Given the description of an element on the screen output the (x, y) to click on. 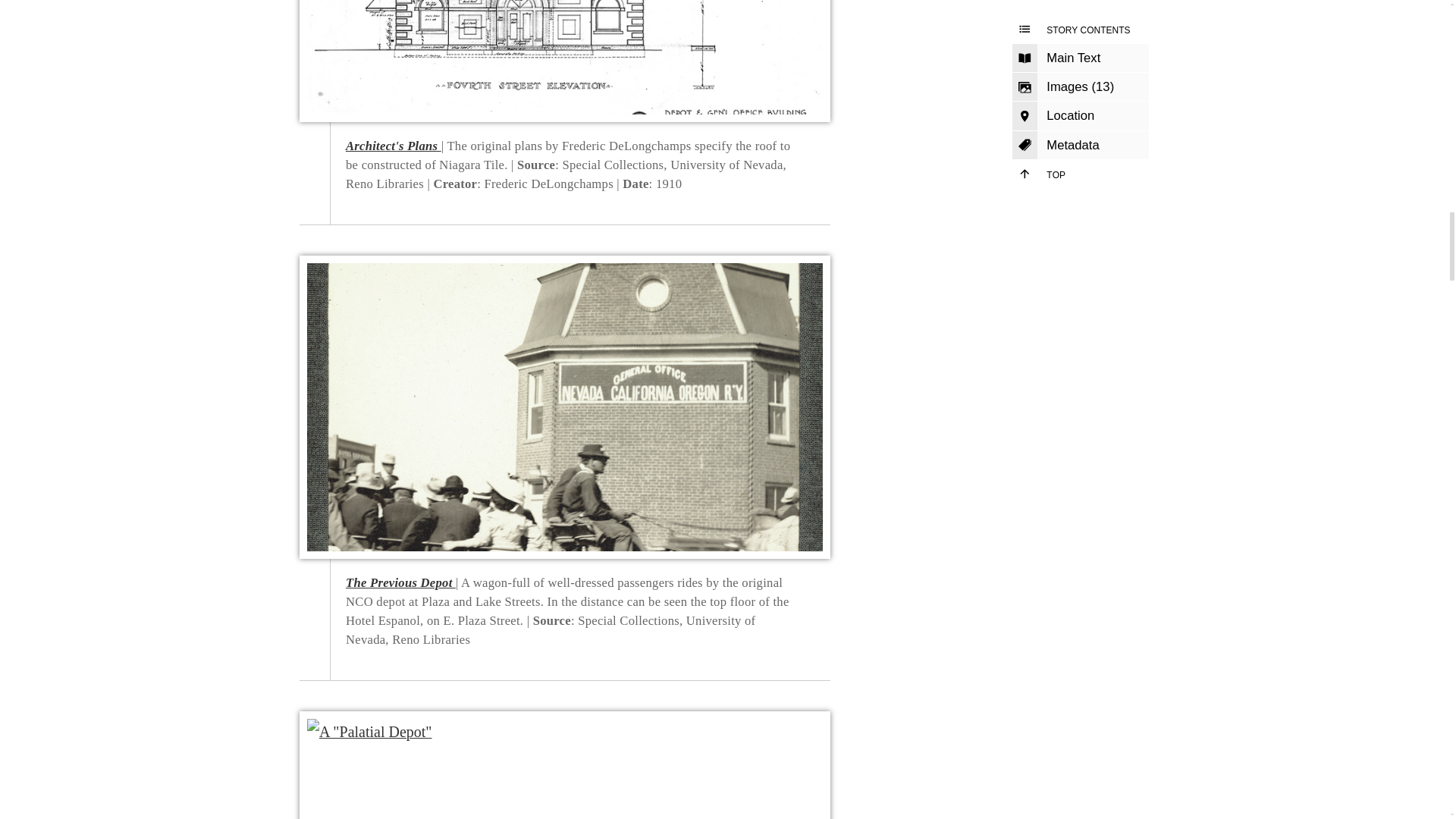
Architect's Plans (393, 145)
